Given the description of an element on the screen output the (x, y) to click on. 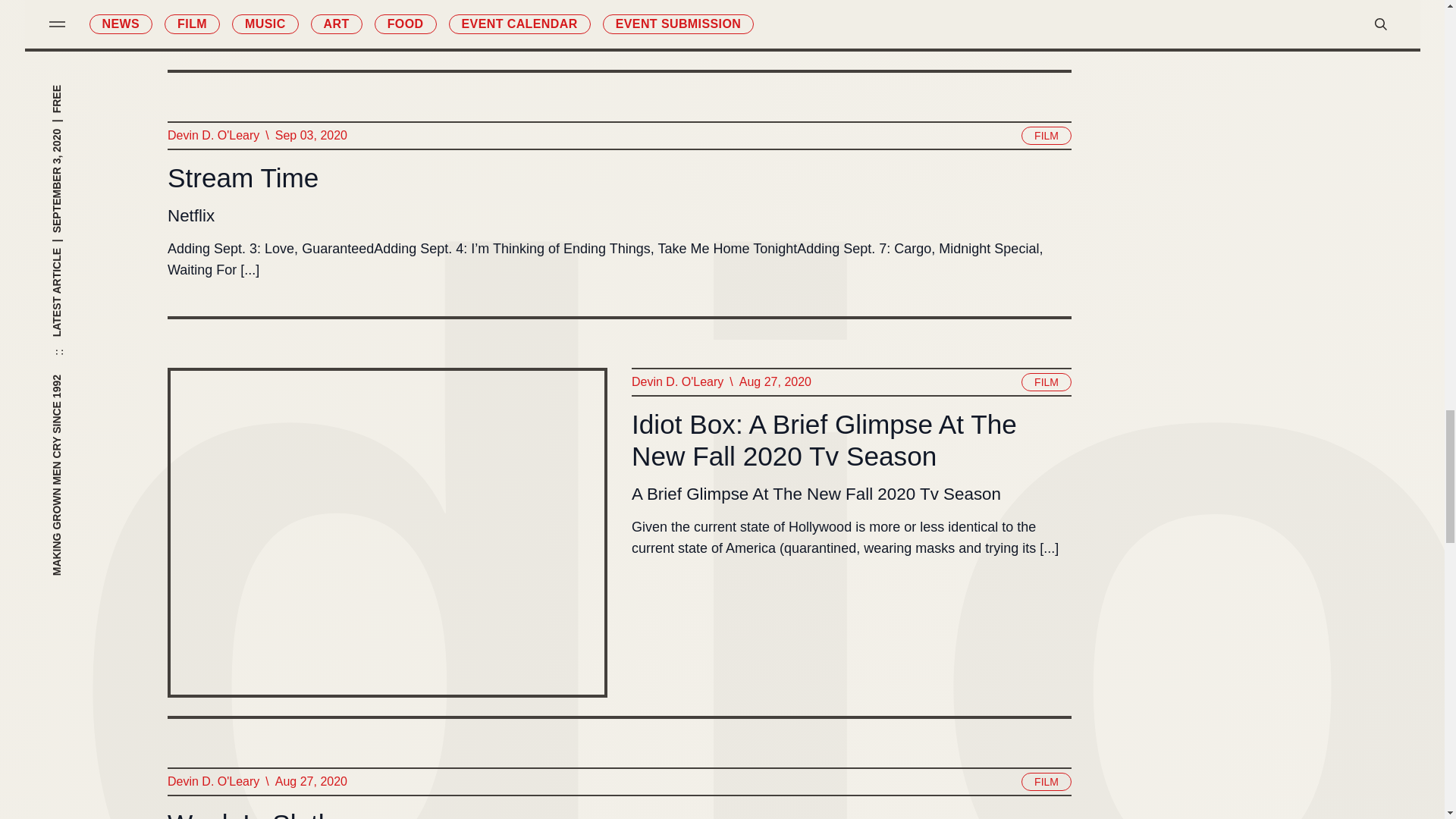
FILM (1046, 382)
Devin D. O'Leary (676, 382)
Devin D. O'Leary (213, 135)
FILM (1046, 135)
